Given the description of an element on the screen output the (x, y) to click on. 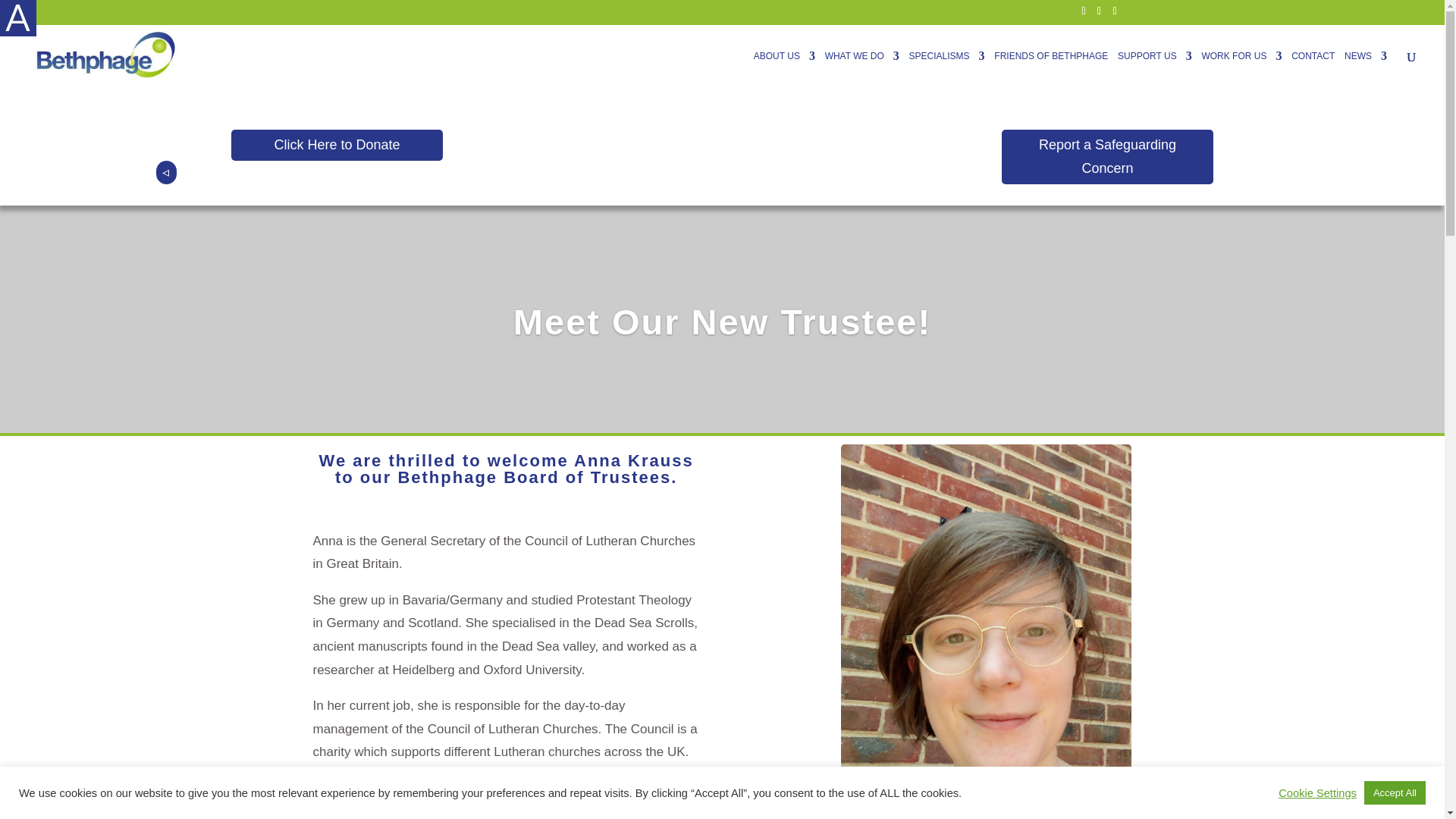
WHAT WE DO (862, 67)
SPECIALISMS (946, 67)
ABOUT US (784, 67)
Anna Krauss (986, 631)
Accessibility Helper sidebar (18, 18)
FRIENDS OF BETHPHAGE (1051, 67)
